Given the description of an element on the screen output the (x, y) to click on. 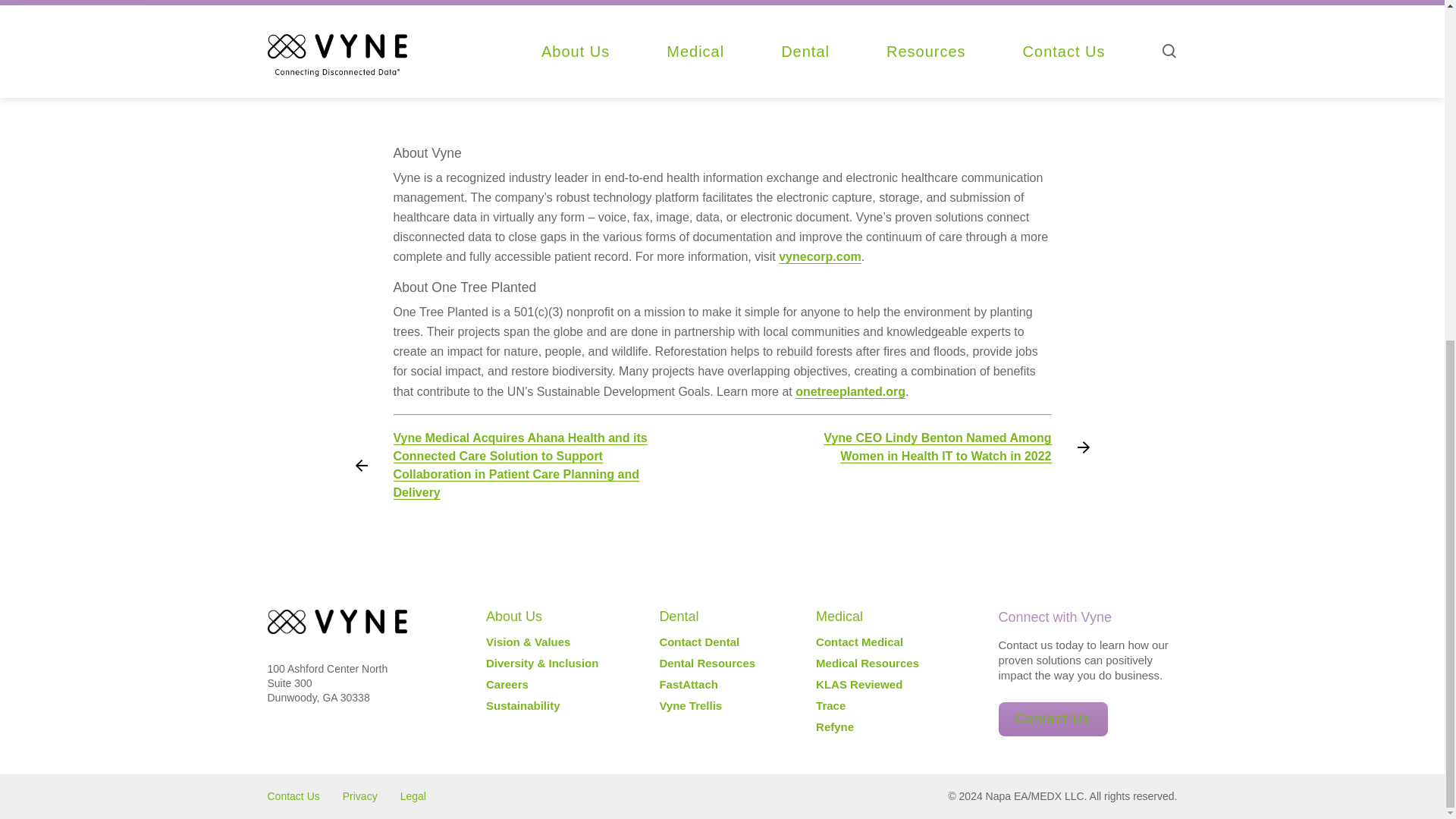
Dental (678, 616)
Vyne Trellis (690, 705)
tree kit (986, 19)
One Tree Planted (553, 3)
About Us (513, 616)
tree kits (768, 19)
onetreeplanted.org (849, 391)
Careers (507, 684)
Medical (839, 616)
Dental Resources (707, 662)
vynecorp.com (819, 256)
FastAttach (688, 684)
Contact Dental (699, 641)
